Given the description of an element on the screen output the (x, y) to click on. 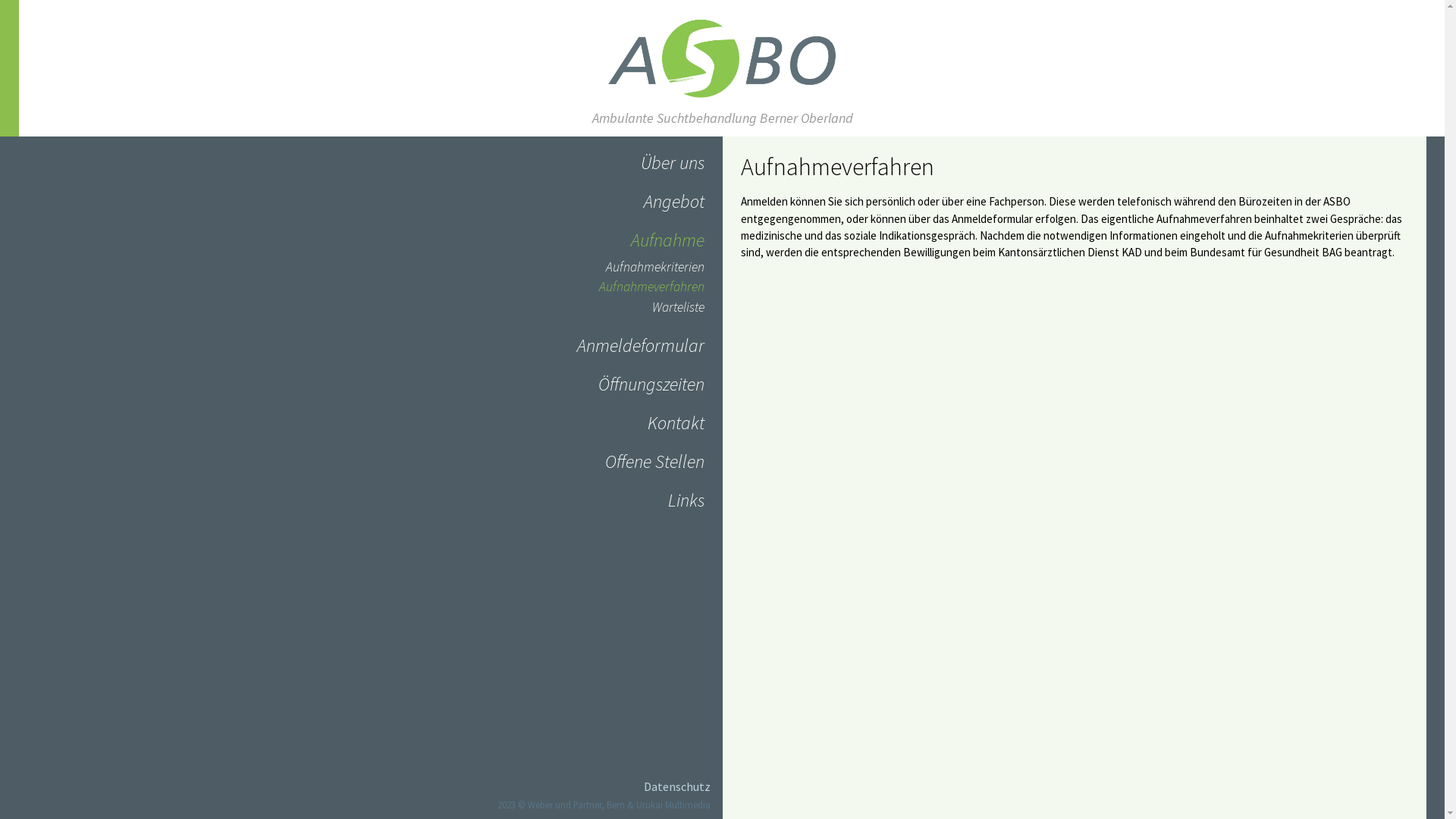
Aufnahme Element type: text (667, 239)
Weber und Partner, Bern Element type: text (575, 804)
Links Element type: text (685, 499)
Datenschutz Element type: text (676, 785)
Offene Stellen Element type: text (654, 461)
Anmeldeformular Element type: text (639, 345)
Ambulante Suchtbehandlung Berner Oberland Element type: text (721, 106)
Kontakt Element type: text (675, 422)
Warteliste Element type: text (678, 306)
Urukai Multimedia Element type: text (672, 804)
Aufnahmekriterien Element type: text (654, 266)
Angebot Element type: text (673, 201)
Aufnahmeverfahren Element type: text (651, 286)
